Given the description of an element on the screen output the (x, y) to click on. 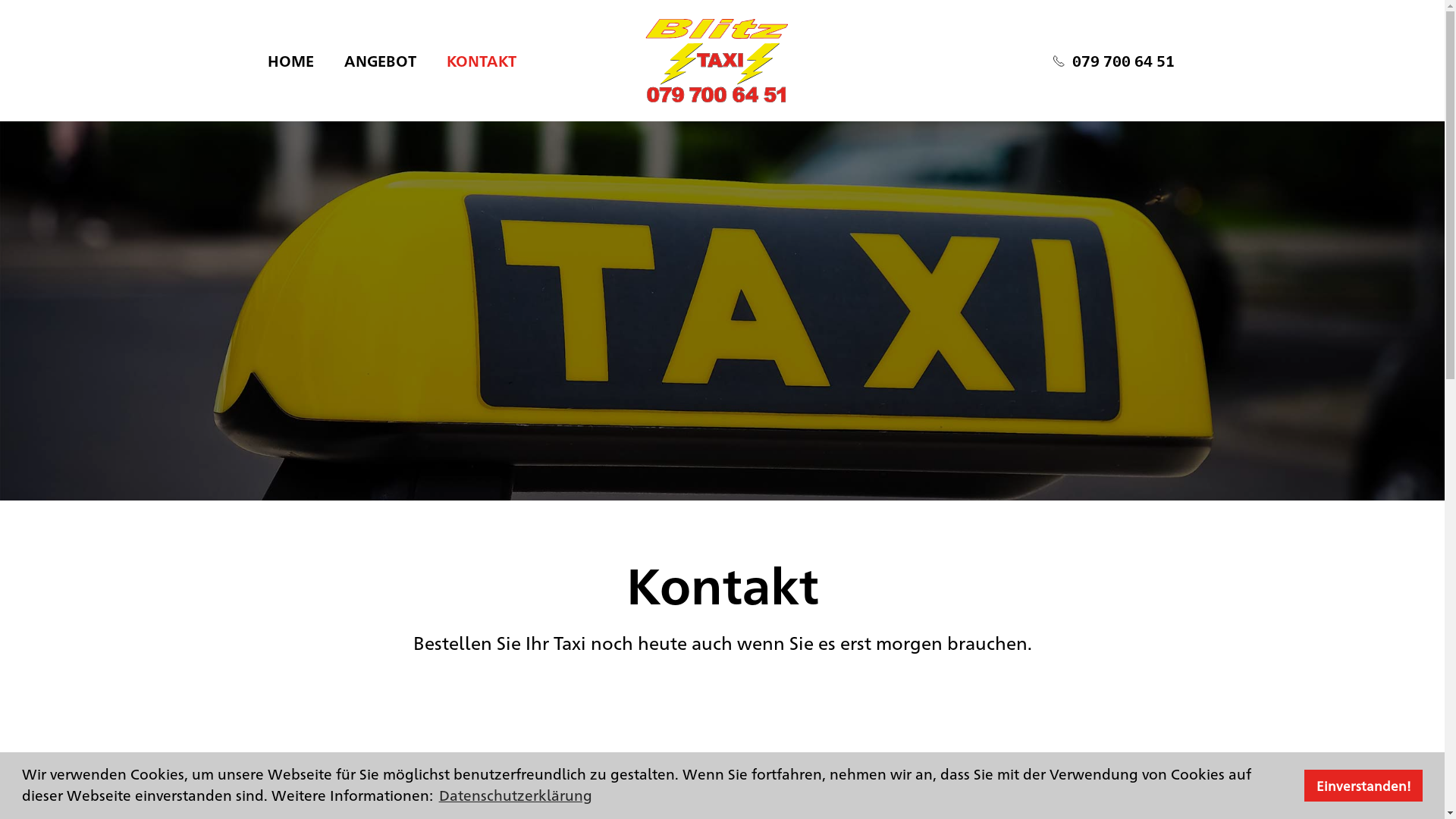
Einverstanden! Element type: text (1363, 785)
Home Element type: hover (716, 60)
079 700 64 51 Element type: text (1114, 60)
KONTAKT Element type: text (472, 60)
ANGEBOT Element type: text (380, 60)
HOME Element type: text (297, 60)
